Given the description of an element on the screen output the (x, y) to click on. 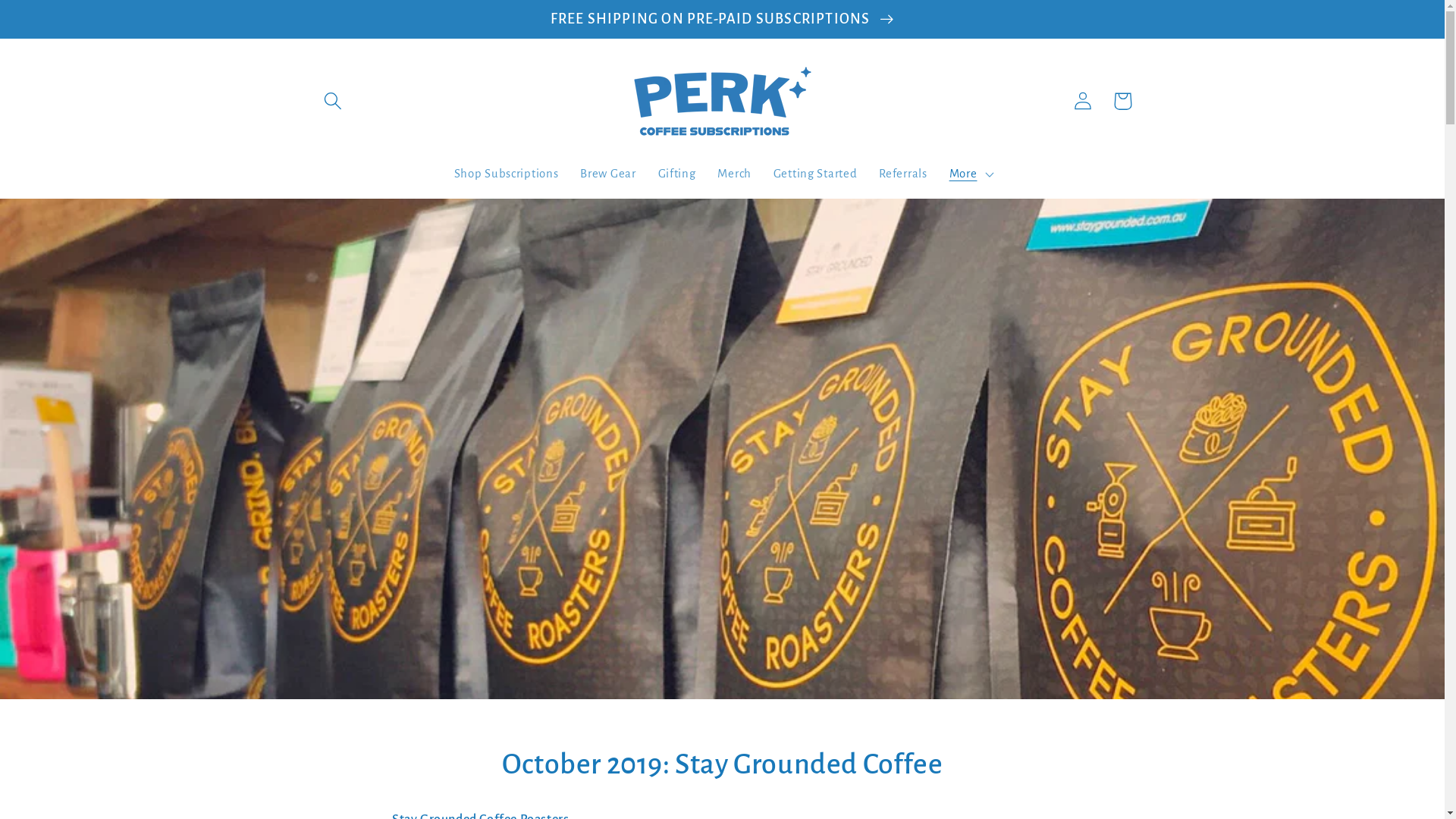
Log in Element type: text (1082, 101)
Referrals Element type: text (903, 174)
Merch Element type: text (734, 174)
Gifting Element type: text (676, 174)
Brew Gear Element type: text (607, 174)
Cart Element type: text (1122, 101)
FREE SHIPPING ON PRE-PAID SUBSCRIPTIONS Element type: text (722, 18)
Shop Subscriptions Element type: text (505, 174)
Getting Started Element type: text (815, 174)
